Given the description of an element on the screen output the (x, y) to click on. 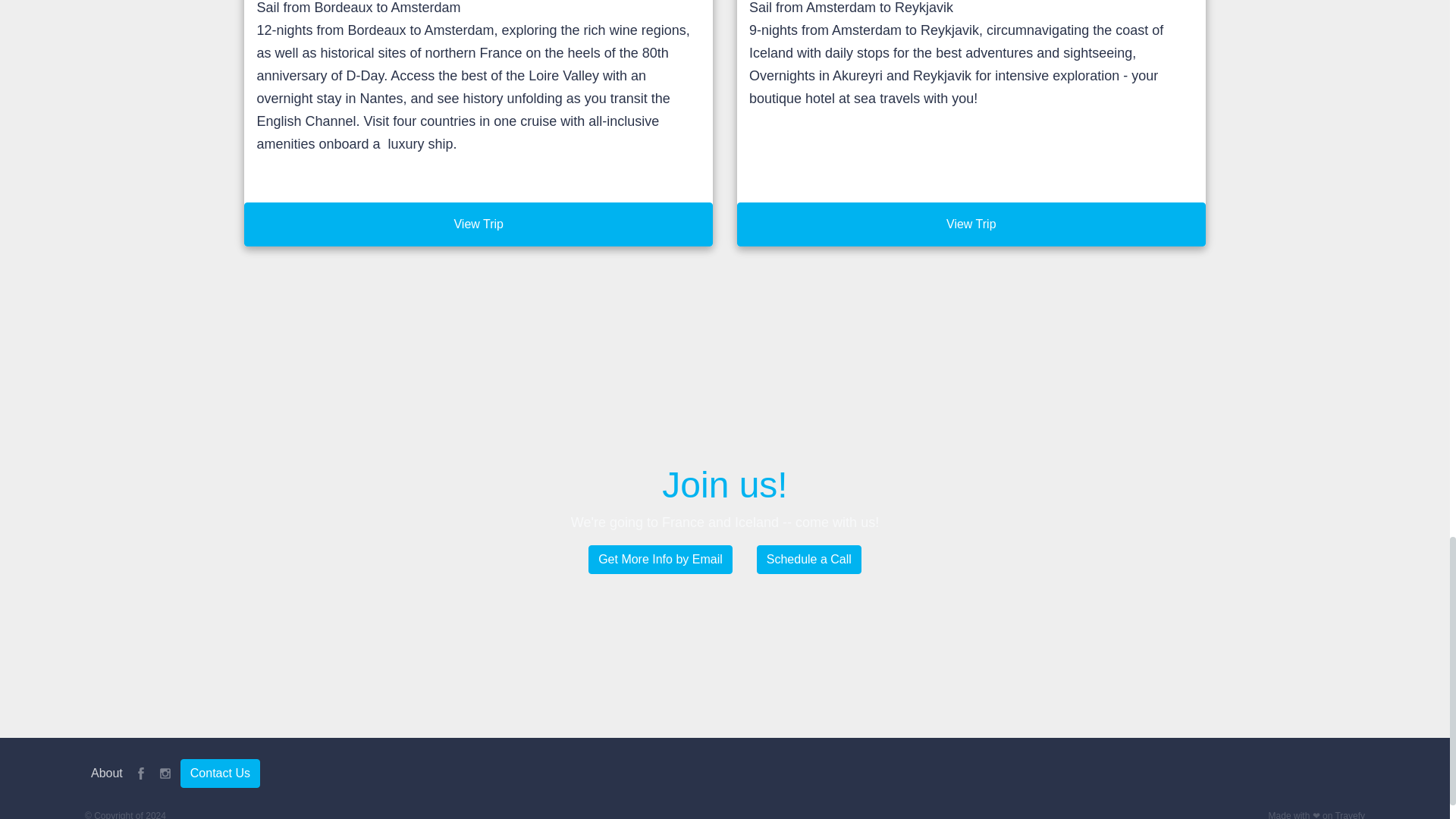
About (106, 773)
Get More Info by Email (660, 559)
View Trip (478, 224)
Schedule a Call (809, 559)
Contact Us (220, 773)
View Trip (970, 224)
